Given the description of an element on the screen output the (x, y) to click on. 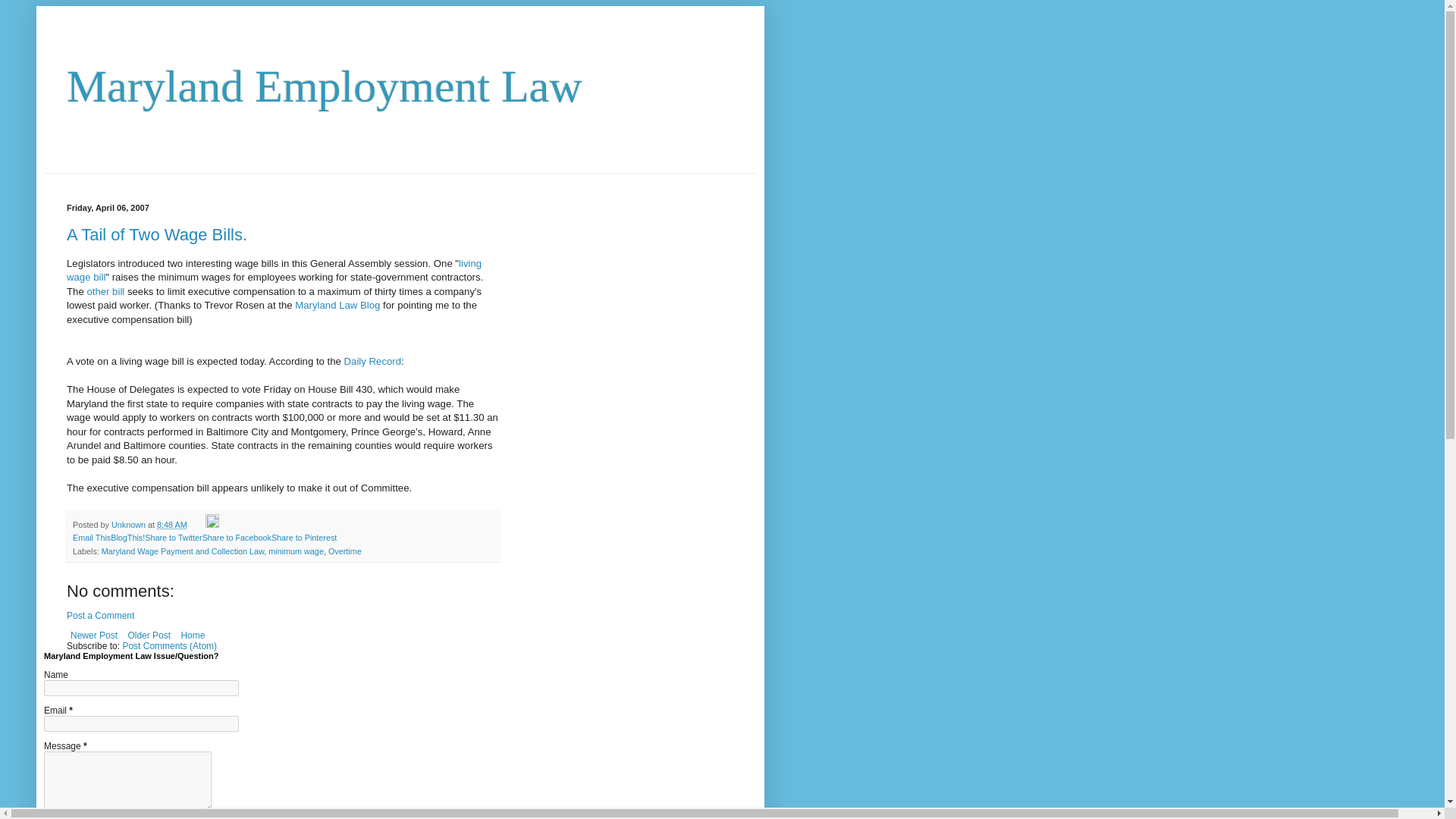
minimum wage (295, 551)
Home (192, 635)
living wage bill (273, 269)
Overtime (345, 551)
Post a Comment (99, 615)
BlogThis! (127, 537)
Newer Post (93, 635)
Email Post (197, 524)
Email This (91, 537)
A Tail of Two Wage Bills. (156, 234)
